Given the description of an element on the screen output the (x, y) to click on. 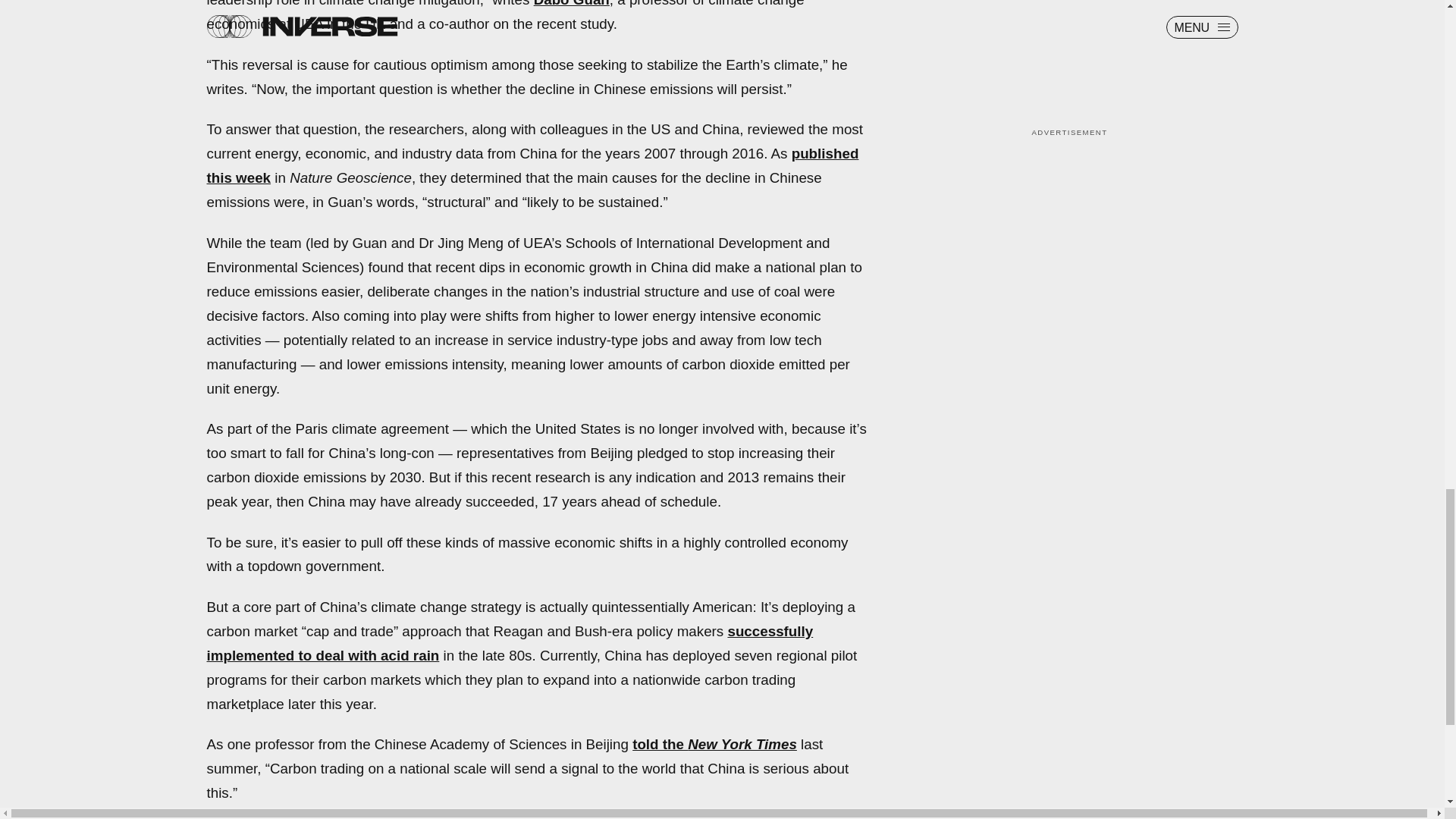
Dabo Guan (572, 3)
successfully implemented to deal with acid rain (509, 643)
told the New York Times (713, 744)
published this week (532, 165)
